Given the description of an element on the screen output the (x, y) to click on. 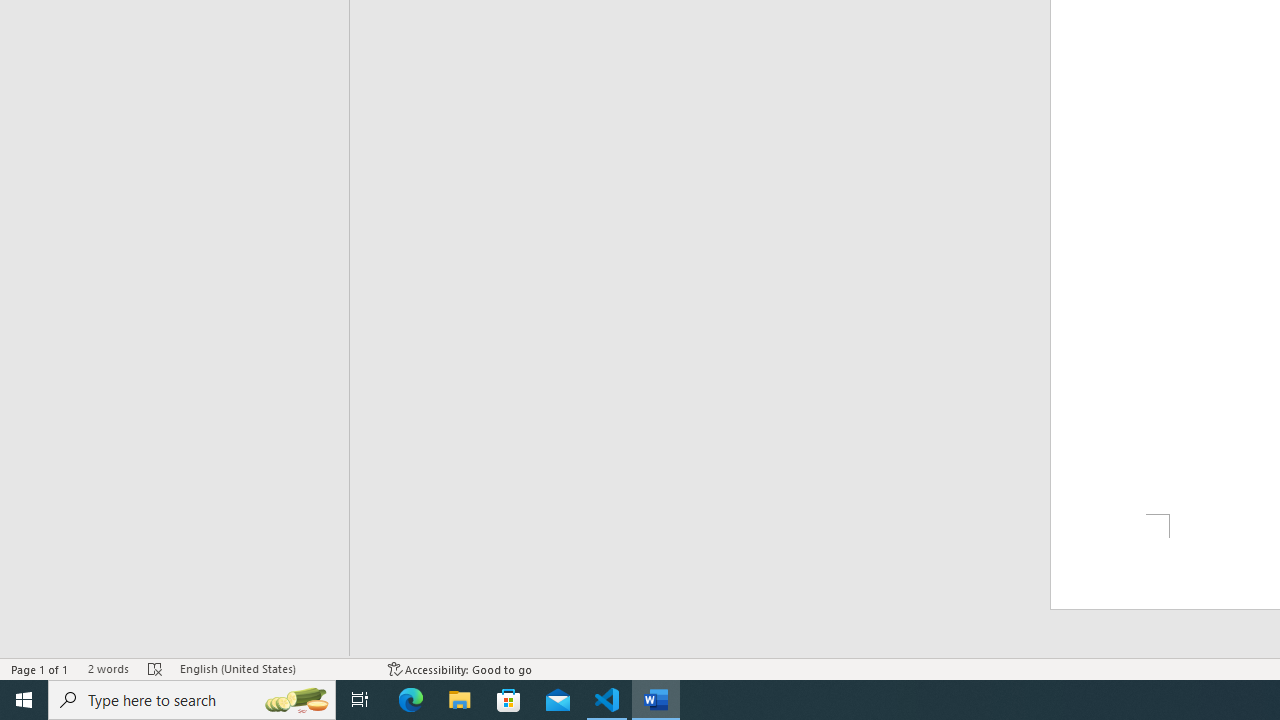
Spelling and Grammar Check Errors (155, 668)
Language English (United States) (274, 668)
Page Number Page 1 of 1 (39, 668)
Accessibility Checker Accessibility: Good to go (460, 668)
